Given the description of an element on the screen output the (x, y) to click on. 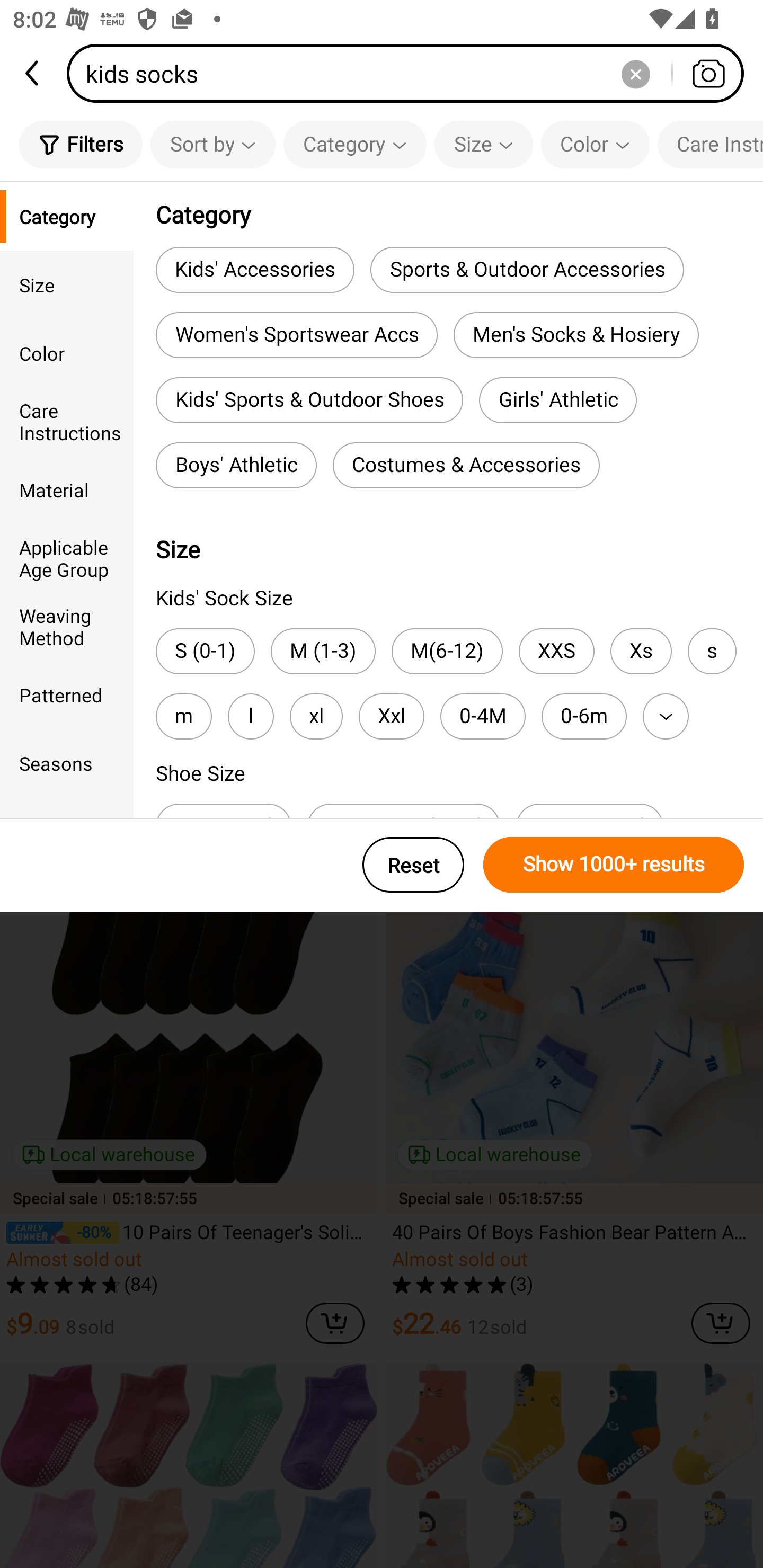
back (33, 72)
kids socks (411, 73)
Delete search history (635, 73)
Search by photo (708, 73)
Filters (80, 143)
Sort by (212, 143)
Category (354, 143)
Size (483, 143)
Color (594, 143)
Care Instructions (710, 143)
Category (66, 215)
Kids' Accessories (254, 269)
Sports & Outdoor Accessories (527, 269)
Size (66, 284)
Women's Sportswear Accs (296, 334)
Men's Socks & Hosiery (575, 334)
Color (66, 352)
Kids' Sports & Outdoor Shoes (309, 400)
Girls' Athletic (558, 400)
Care Instructions (66, 421)
